Given the description of an element on the screen output the (x, y) to click on. 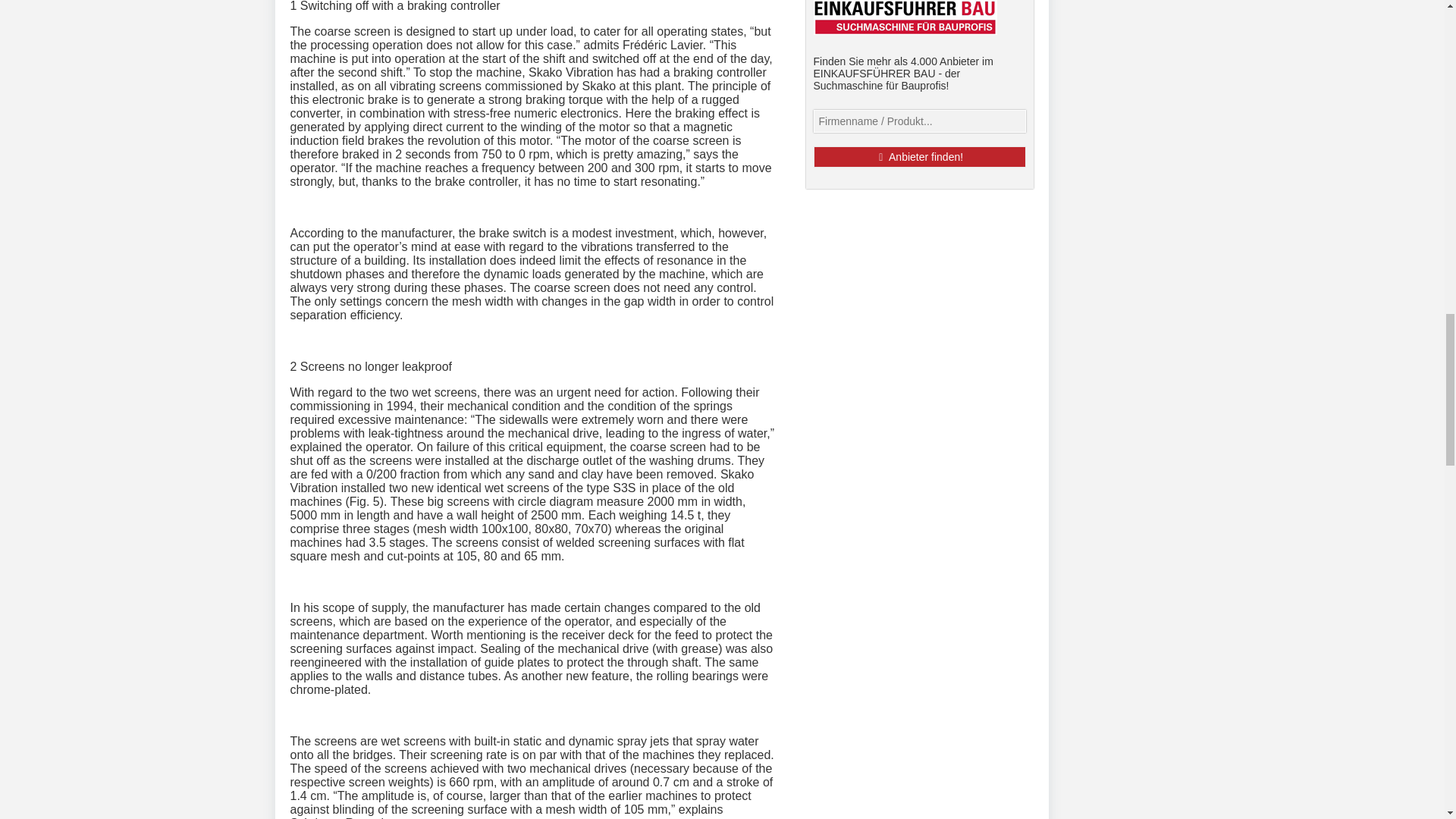
Bau-Produkte oder Anbieter (918, 120)
